Given the description of an element on the screen output the (x, y) to click on. 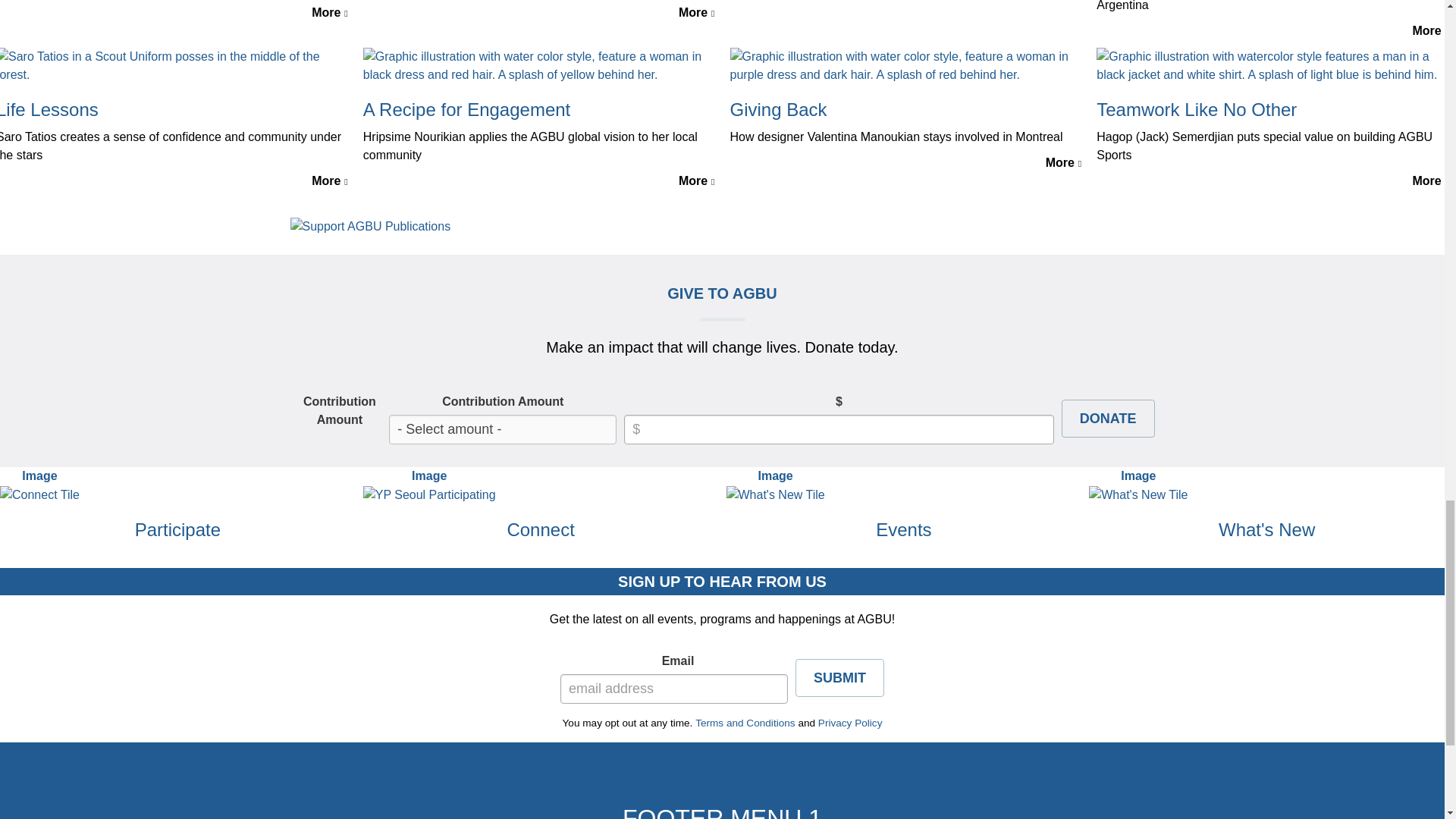
Donate (27, 512)
